Given the description of an element on the screen output the (x, y) to click on. 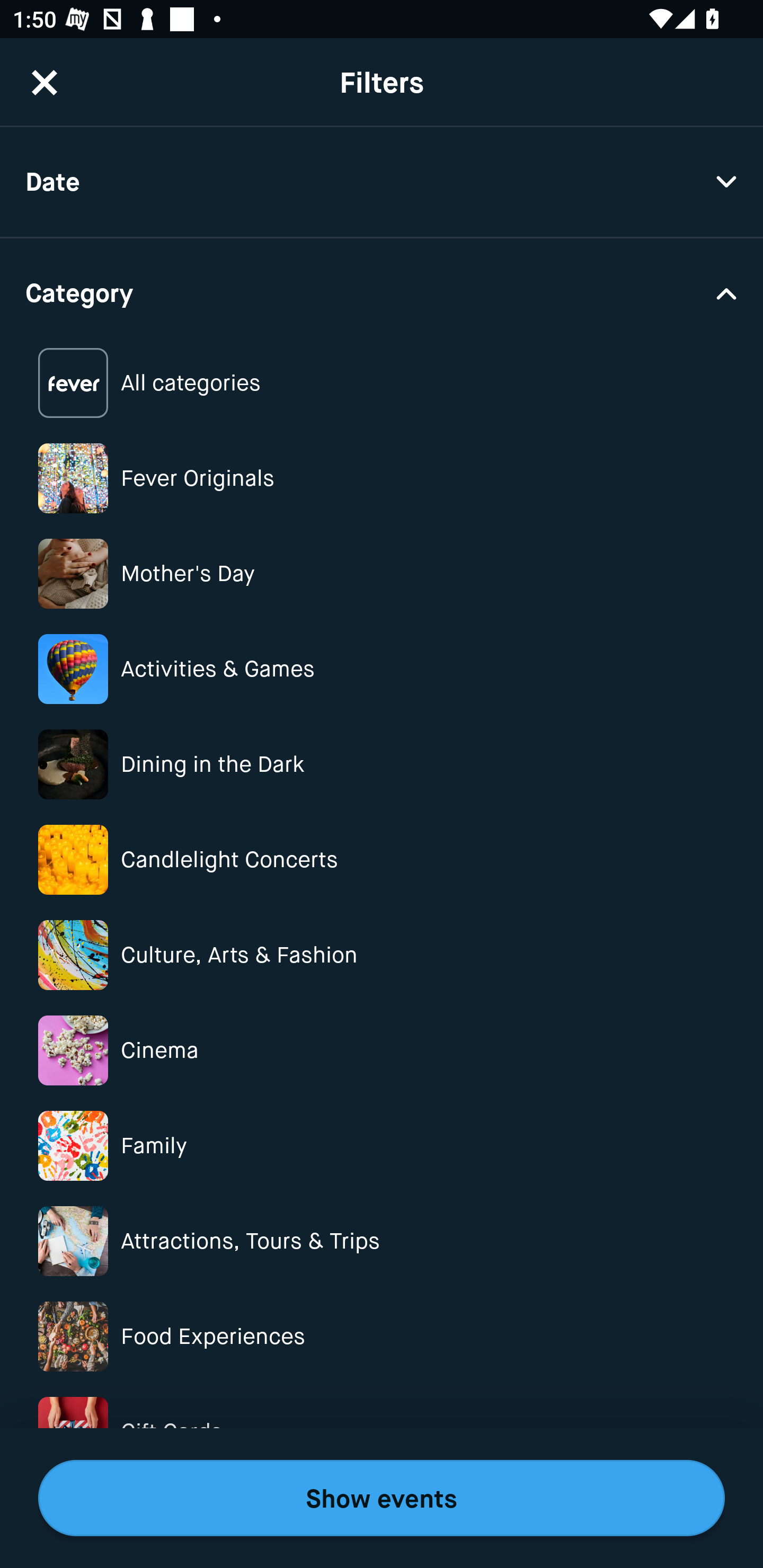
CloseButton (44, 82)
Date Drop Down Arrow (381, 182)
Category Drop Down Arrow (381, 291)
Category Image All categories (381, 382)
Category Image Fever Originals (381, 477)
Category Image Mother's Day (381, 573)
Category Image Activities & Games (381, 668)
Category Image Dining in the Dark (381, 763)
Category Image Candlelight Concerts (381, 859)
Category Image Culture, Arts & Fashion (381, 954)
Category Image Cinema (381, 1050)
Category Image Family (381, 1145)
Category Image Attractions, Tours & Trips (381, 1240)
Category Image Food Experiences (381, 1336)
Show events (381, 1497)
